Given the description of an element on the screen output the (x, y) to click on. 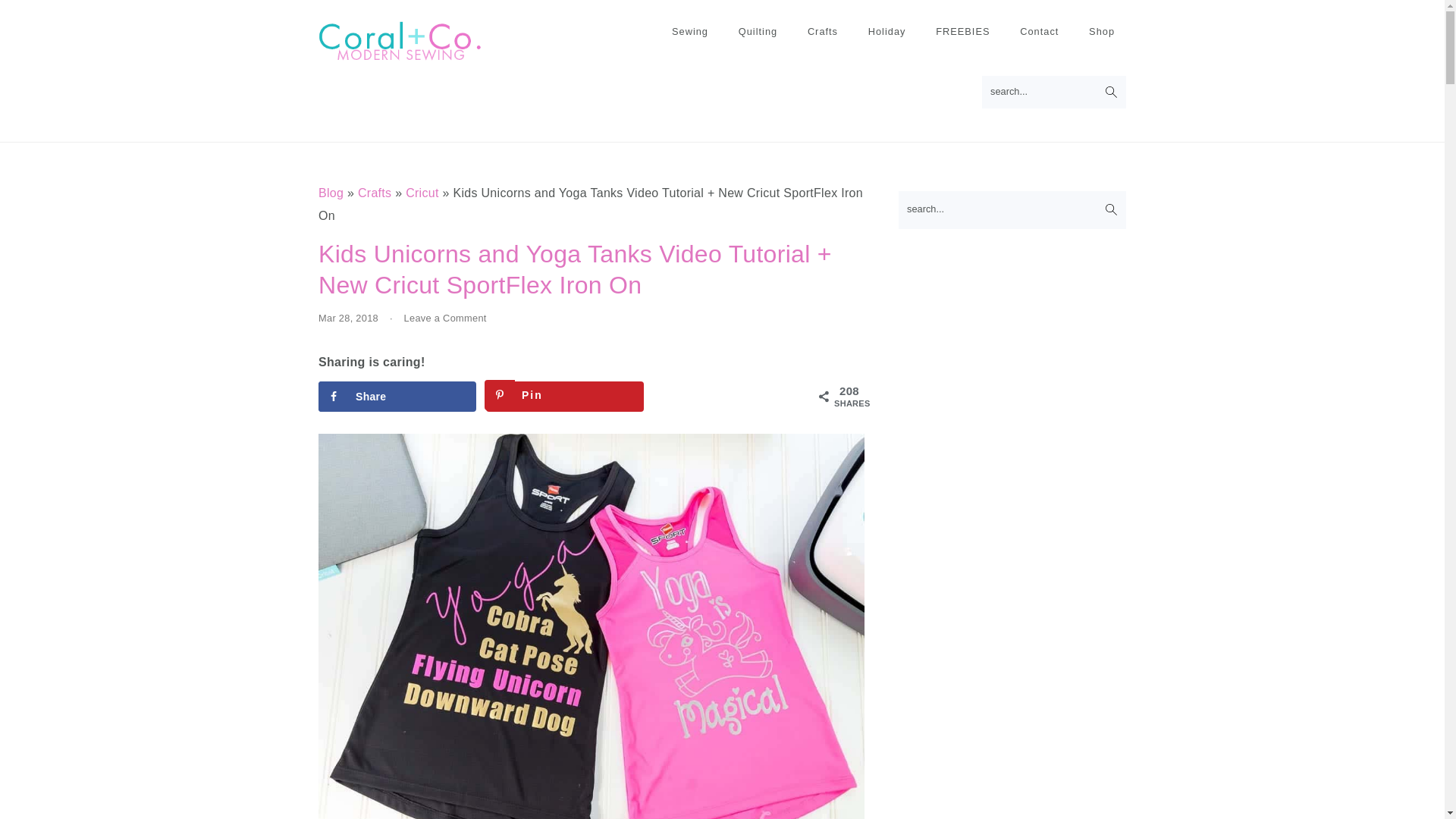
Share on Facebook (397, 396)
Contact (1039, 32)
Shop (1101, 32)
Quilting (757, 32)
FREEBIES (962, 32)
Crafts (822, 32)
Holiday (887, 32)
